Given the description of an element on the screen output the (x, y) to click on. 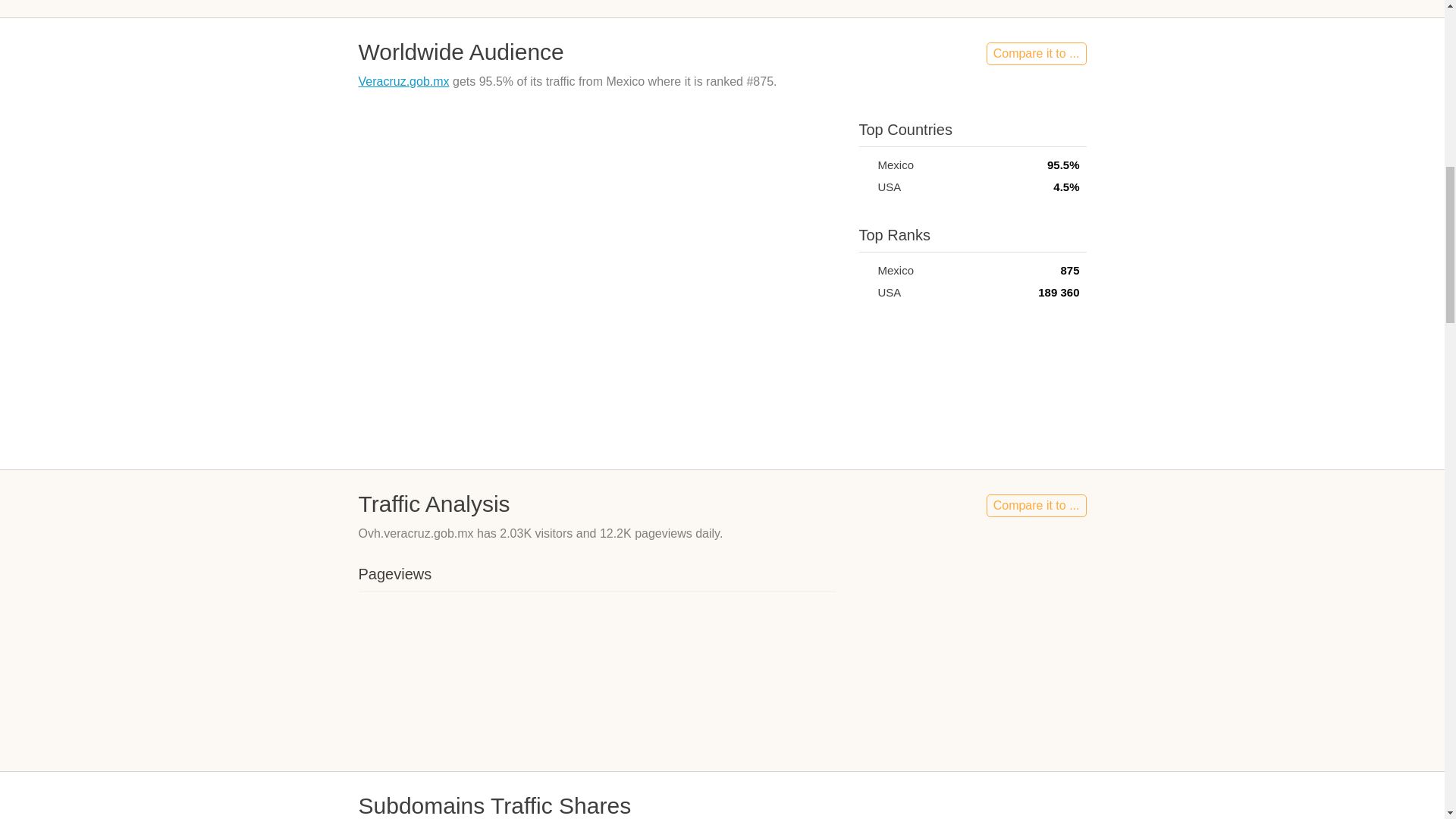
Compare it to ... (1036, 505)
USA (864, 186)
Compare it to ... (1036, 53)
Mexico (864, 270)
USA (864, 292)
Veracruz.gob.mx (403, 81)
Mexico (864, 164)
